Given the description of an element on the screen output the (x, y) to click on. 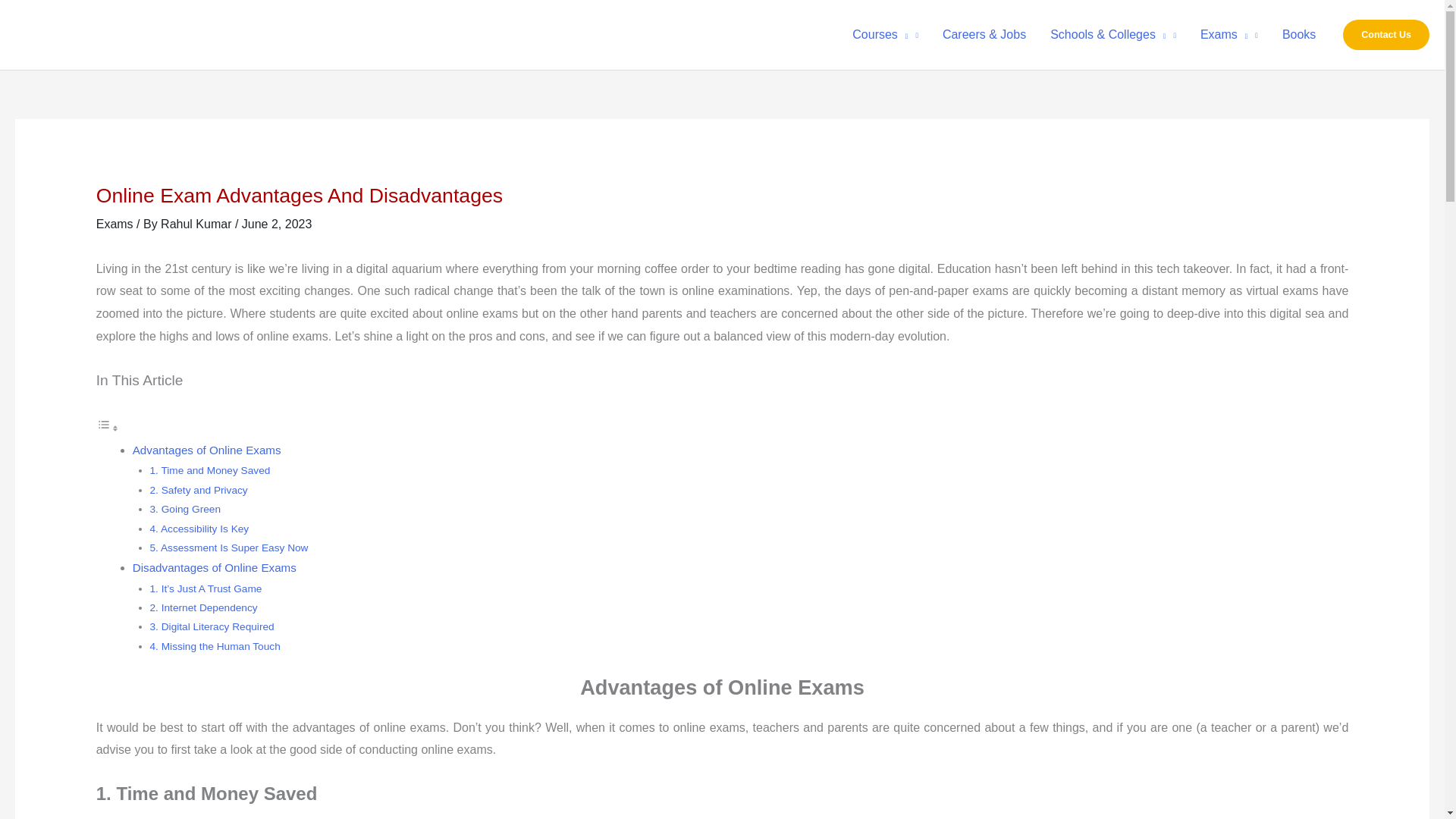
Advantages of Online Exams (206, 449)
Rahul Kumar (197, 223)
 1. Time and Money Saved (209, 470)
View all posts by Rahul Kumar (197, 223)
 2. Internet Dependency (203, 607)
2. Safety and Privacy (198, 490)
 3. Going Green (185, 509)
4. Accessibility Is Key (198, 528)
Books (1298, 34)
Courses (885, 34)
Exams (1228, 34)
Advantages of Online Exams (206, 449)
3. Going Green (185, 509)
 2. Safety and Privacy (198, 490)
 4. Missing the Human Touch (215, 645)
